Given the description of an element on the screen output the (x, y) to click on. 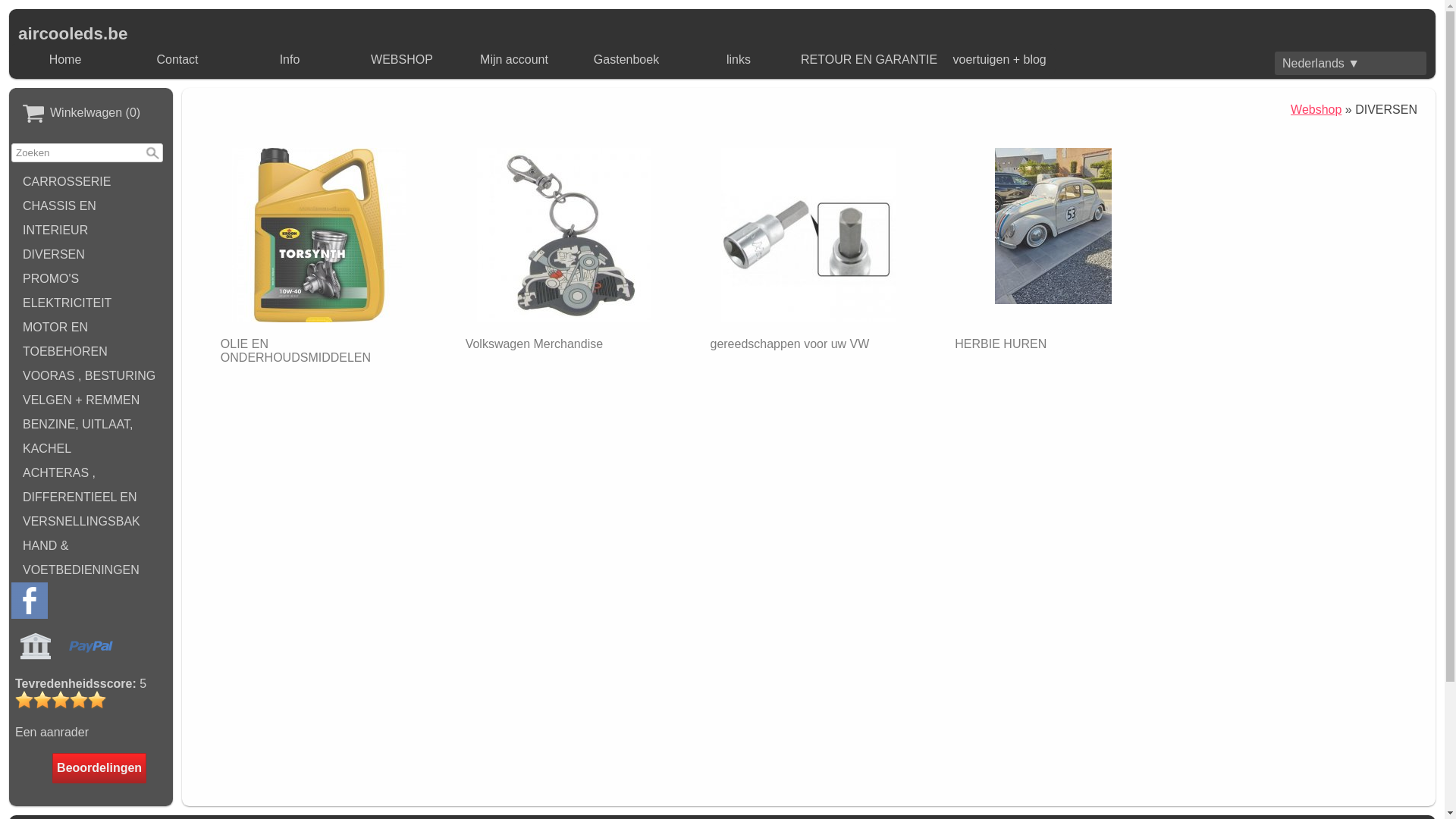
ACHTERAS , DIFFERENTIEEL EN VERSNELLINGSBAK Element type: text (90, 497)
Home Element type: text (64, 59)
Beoordelingen Element type: text (99, 768)
RETOUR EN GARANTIE Element type: text (868, 59)
Webshop Element type: text (1315, 109)
gereedschappen voor uw VW Element type: text (807, 245)
ELEKTRICITEIT Element type: text (90, 303)
Contact Element type: text (177, 59)
WinkelwagenWinkelwagen (0) Element type: text (90, 113)
HAND & VOETBEDIENINGEN Element type: text (90, 557)
MOTOR EN TOEBEHOREN Element type: text (90, 339)
WEBSHOP Element type: text (401, 59)
HERBIE HUREN Element type: text (1052, 245)
OLIE EN ONDERHOUDSMIDDELEN Element type: text (318, 252)
DIVERSEN Element type: text (90, 254)
voertuigen + blog Element type: text (999, 59)
aircooleds.be Element type: text (72, 33)
VELGEN + REMMEN Element type: text (90, 400)
links Element type: text (738, 59)
PROMO'S Element type: text (90, 278)
Gastenboek Element type: text (626, 59)
Info Element type: text (289, 59)
BENZINE, UITLAAT, KACHEL Element type: text (90, 436)
Mijn account Element type: text (513, 59)
CARROSSERIE CHASSIS EN INTERIEUR Element type: text (90, 205)
Volkswagen Merchandise Element type: text (563, 245)
VOORAS , BESTURING Element type: text (90, 376)
